Given the description of an element on the screen output the (x, y) to click on. 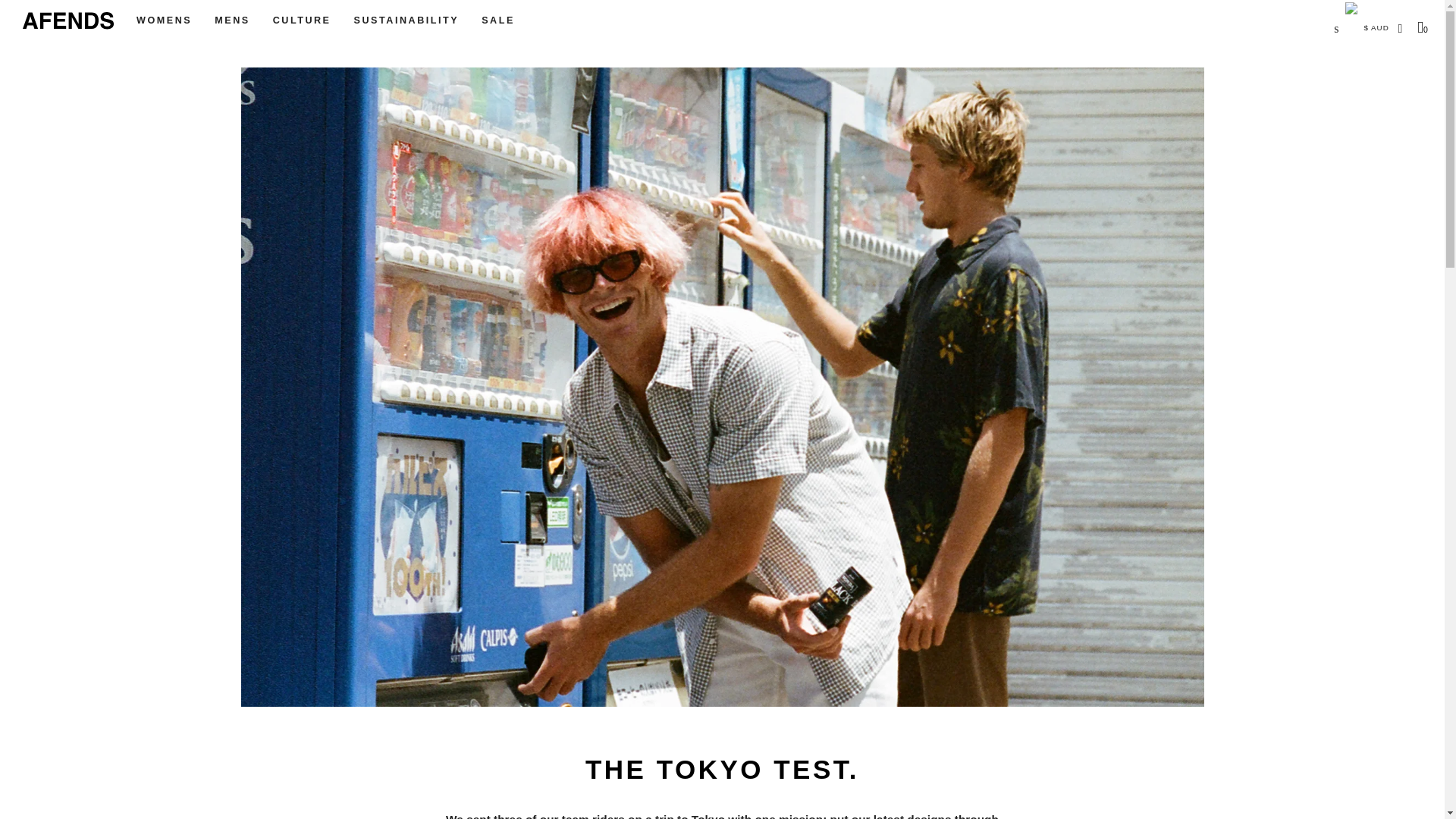
Search (7, 91)
Account Login (1401, 28)
Afends (68, 20)
Search (1331, 41)
Search (7, 91)
